Given the description of an element on the screen output the (x, y) to click on. 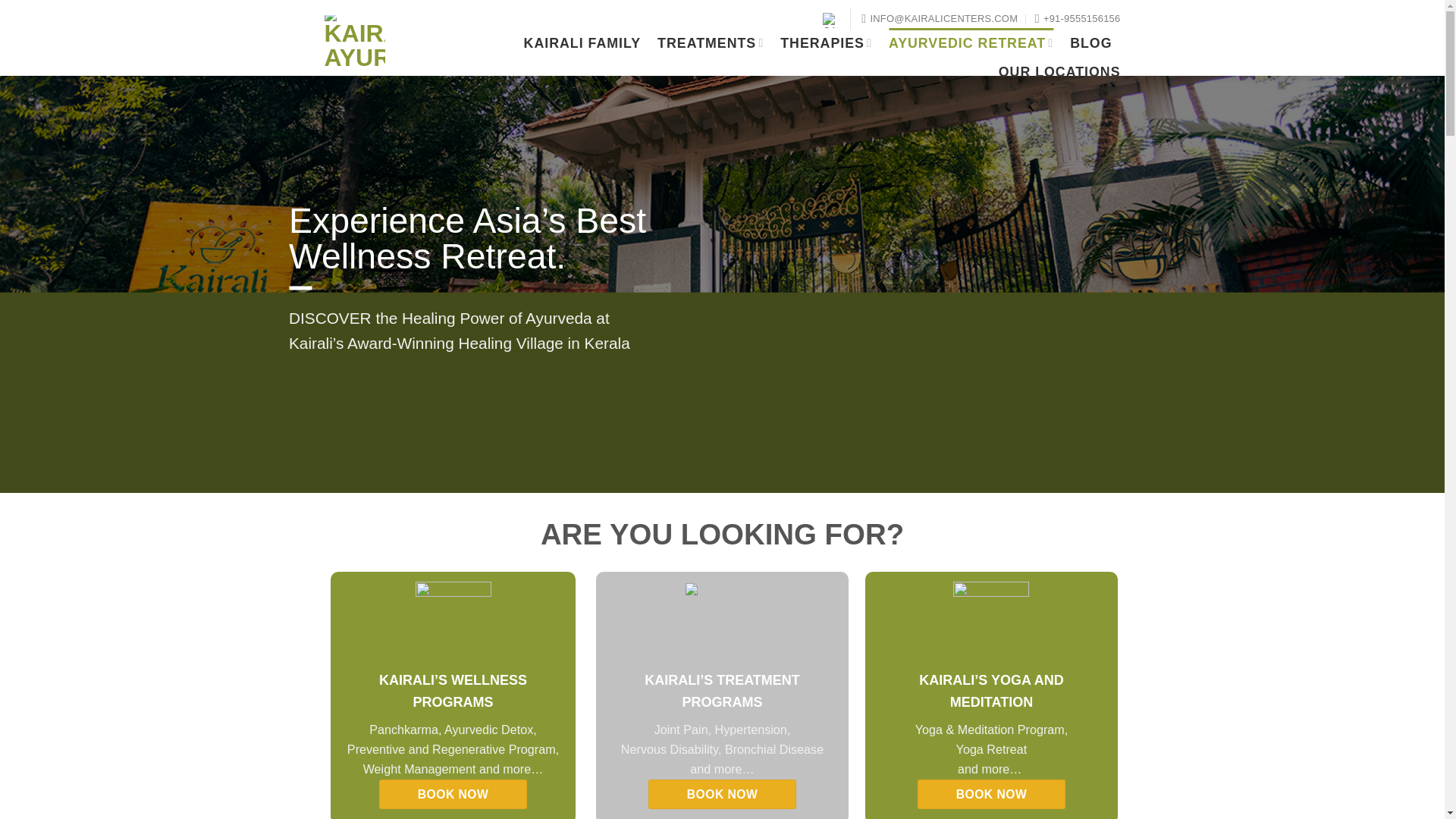
TREATMENTS (710, 42)
BLOG (1091, 42)
OUR LOCATIONS (1059, 71)
Cart (828, 18)
KAIRALI FAMILY (583, 42)
AYURVEDIC RETREAT (970, 42)
BOOK NOW (452, 794)
Kairali Ayurvedic Center - Ayurvedic Treatment (355, 39)
BOOK NOW (721, 794)
THERAPIES (826, 42)
